Given the description of an element on the screen output the (x, y) to click on. 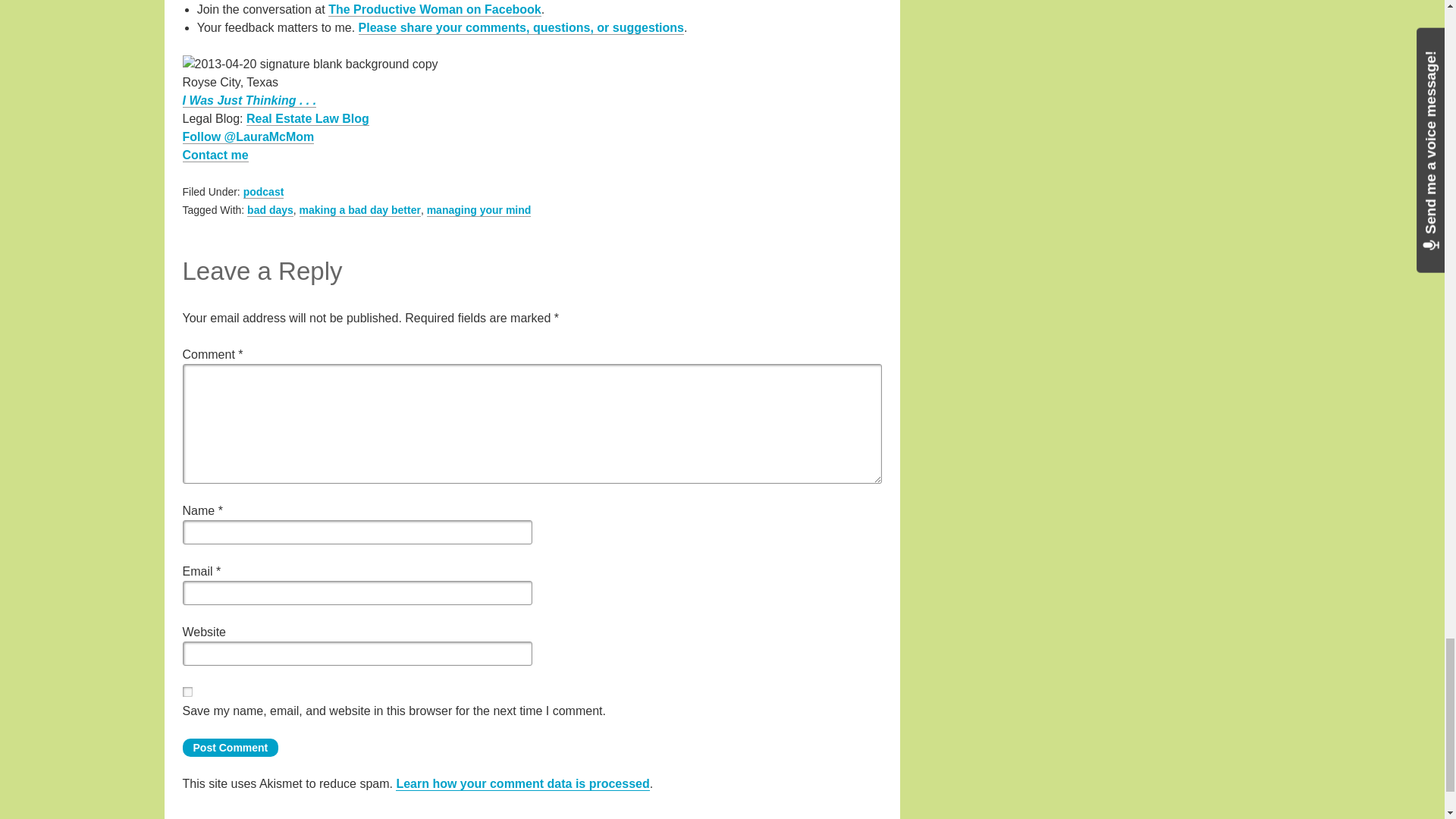
Post Comment (230, 747)
TPW on Facebook (435, 9)
yes (187, 691)
